Given the description of an element on the screen output the (x, y) to click on. 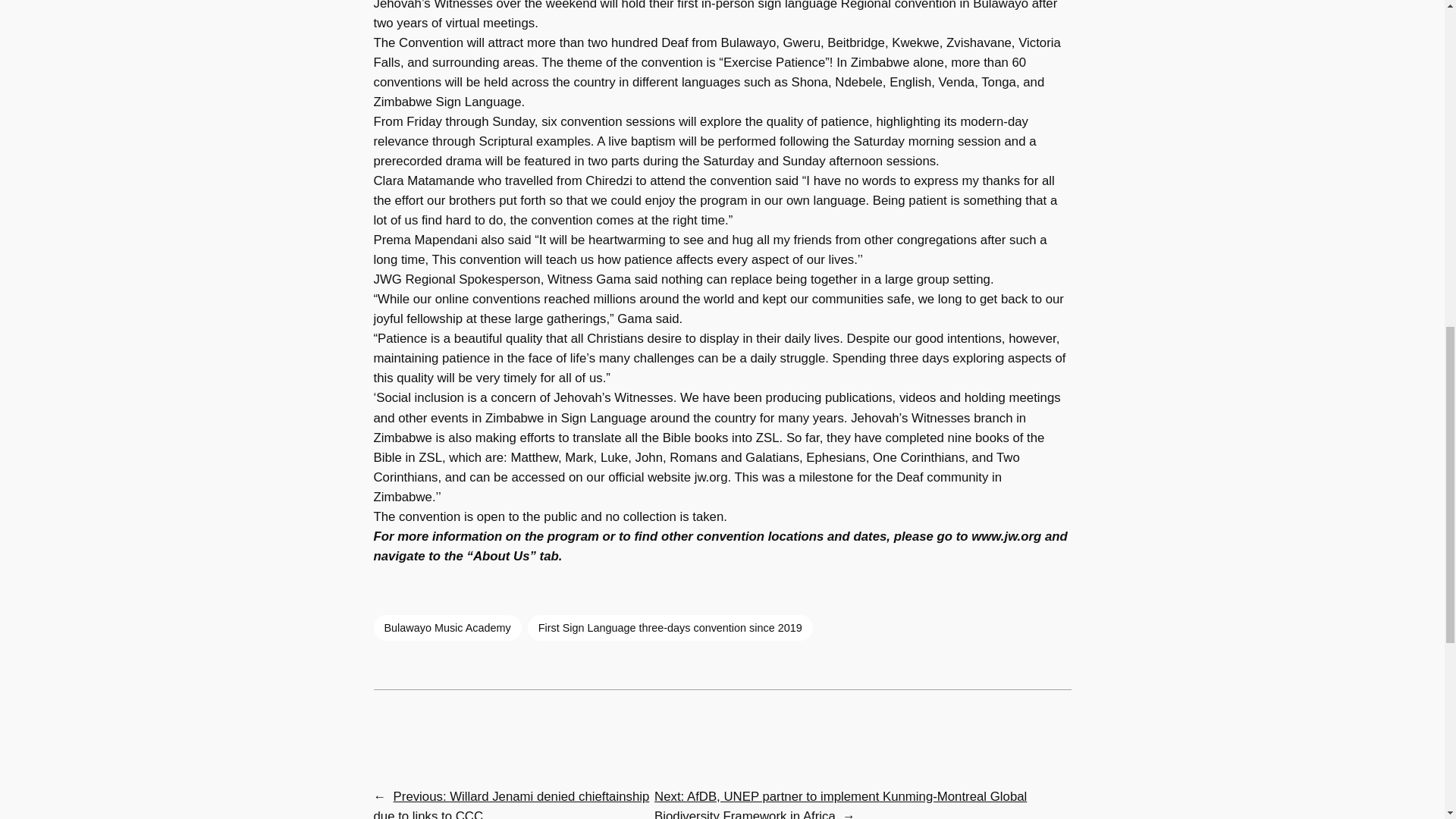
Bulawayo Music Academy (446, 627)
First Sign Language three-days convention since 2019 (669, 627)
